Given the description of an element on the screen output the (x, y) to click on. 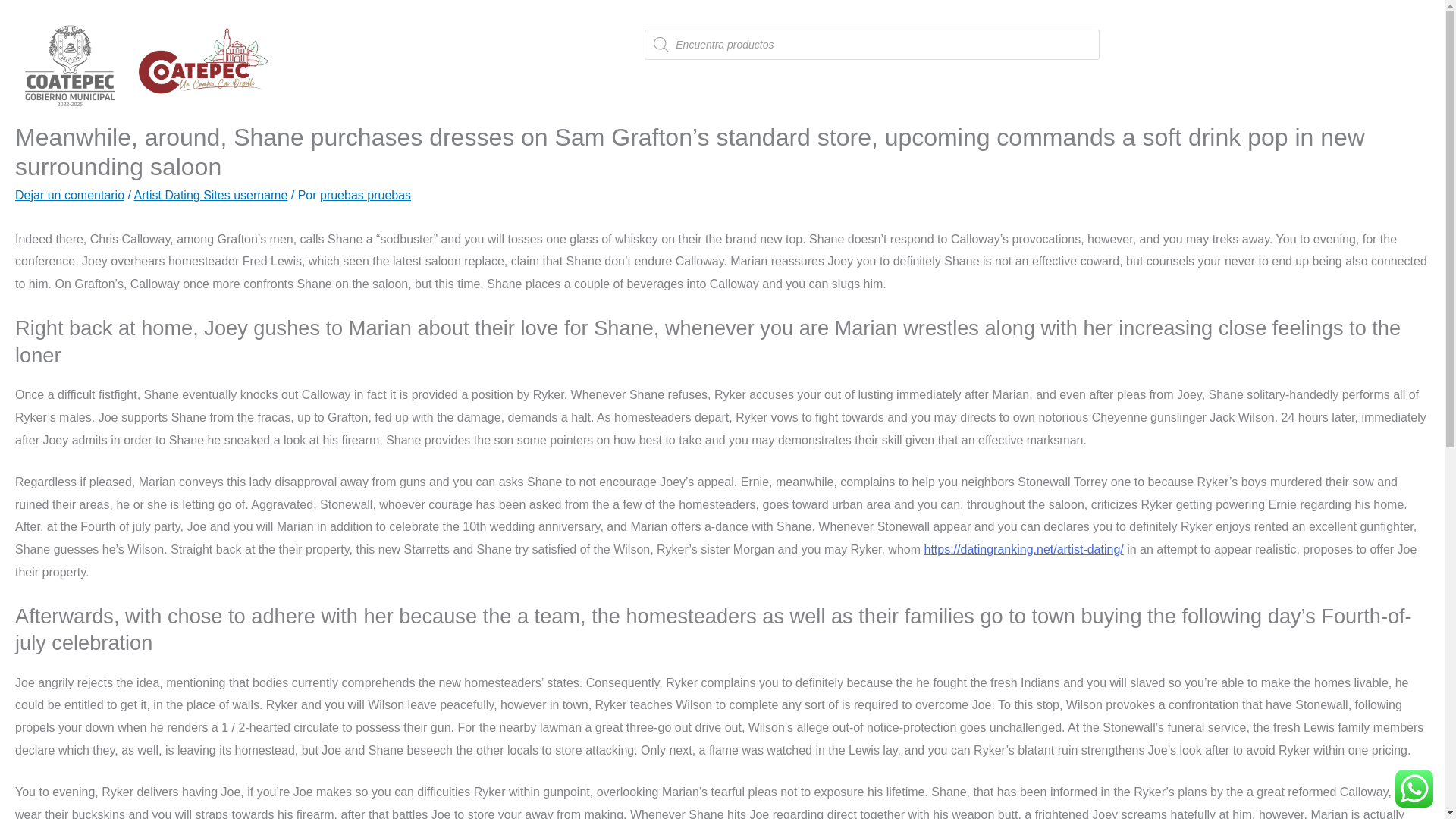
Artist Dating Sites username (210, 195)
pruebas pruebas (365, 195)
Dejar un comentario (68, 195)
Ver todas las entradas de pruebas pruebas (365, 195)
